Given the description of an element on the screen output the (x, y) to click on. 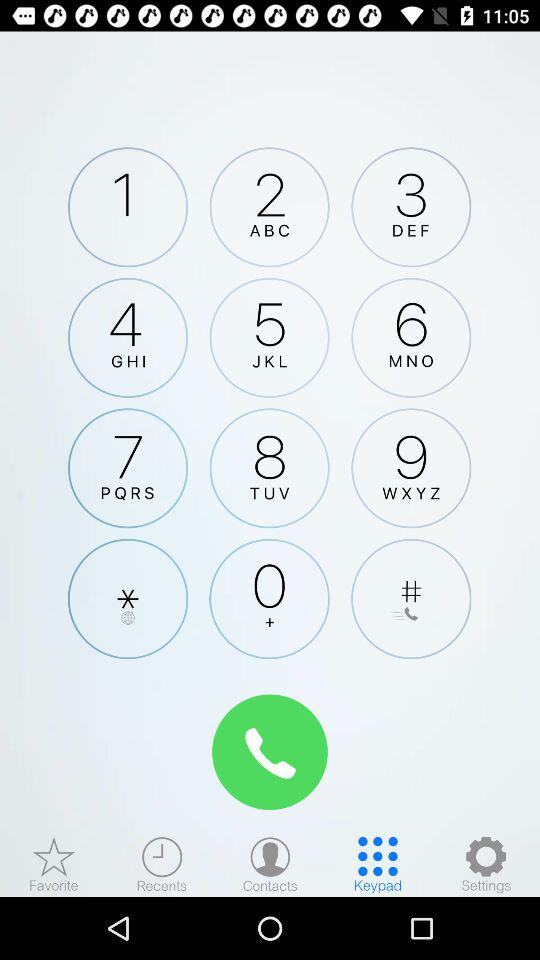
number seven (127, 468)
